Given the description of an element on the screen output the (x, y) to click on. 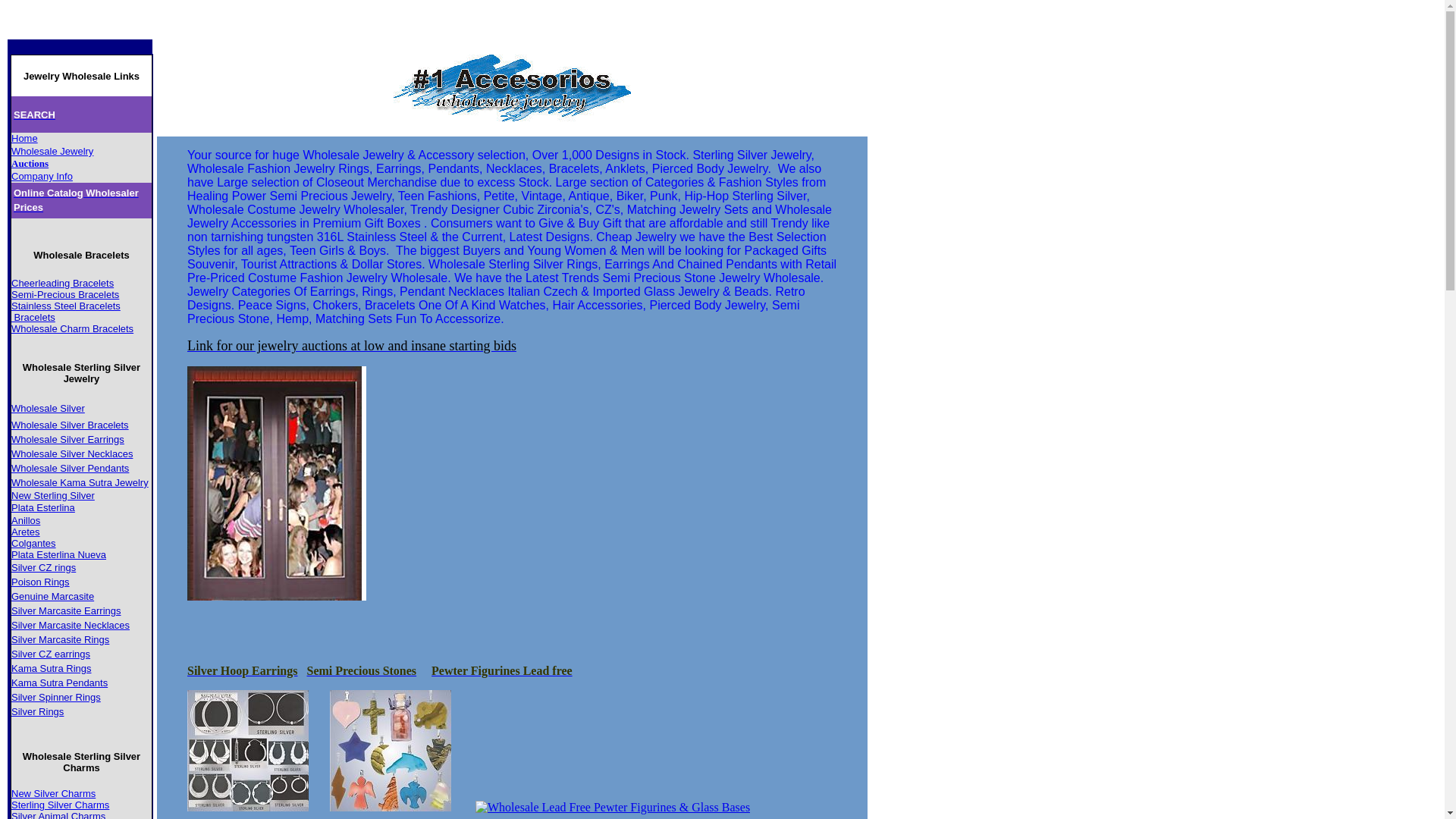
Auctions Element type: text (29, 163)
Kama Sutra Pendants Element type: text (59, 682)
Cheerleading Bracelets Element type: text (62, 282)
Wholesale Jewelry Element type: text (52, 150)
Wholesale Silver Element type: text (47, 407)
Silver Marcasite Rings Element type: text (60, 638)
Poison Rings Element type: text (40, 581)
Wholesale Silver Pendants Element type: text (69, 467)
Anillos Element type: text (25, 520)
Wholesale Charm Bracelets Element type: text (72, 327)
Wholesale Silver Necklaces Element type: text (71, 452)
Silver Rings Element type: text (37, 711)
 Bracelets Element type: text (33, 316)
Plata Esterlina Element type: text (43, 507)
Semi Precious Stones Element type: text (361, 670)
SEARCH Element type: text (34, 113)
Wholesale Silver Earrings Element type: text (67, 438)
Home Element type: text (24, 138)
Wholesale Silver Bracelets Element type: text (69, 423)
Sterling Silver Charms Element type: text (60, 804)
Pewter Figurines Lead free Element type: text (501, 670)
Plata Esterlina Nueva Element type: text (58, 554)
Genuine Marcasite Element type: text (52, 596)
Colgantes Element type: text (33, 543)
Wholesale Kama Sutra Jewelry Element type: text (79, 482)
Silver CZ earrings Element type: text (50, 652)
Silver Marcasite Necklaces Element type: text (70, 624)
Stainless Steel Bracelets Element type: text (65, 304)
Aretes Element type: text (25, 531)
Semi-Precious Bracelets Element type: text (65, 293)
Company Info Element type: text (41, 176)
Silver Marcasite Earrings Element type: text (66, 609)
Kama Sutra Rings Element type: text (51, 668)
Online Catalog Wholesaler Prices Element type: text (75, 199)
Silver Hoop Earrings Element type: text (242, 670)
Silver Spinner Rings Element type: text (55, 696)
New Silver Charms Element type: text (53, 793)
New Sterling Silver Element type: text (52, 495)
Silver CZ rings Element type: text (43, 567)
